Given the description of an element on the screen output the (x, y) to click on. 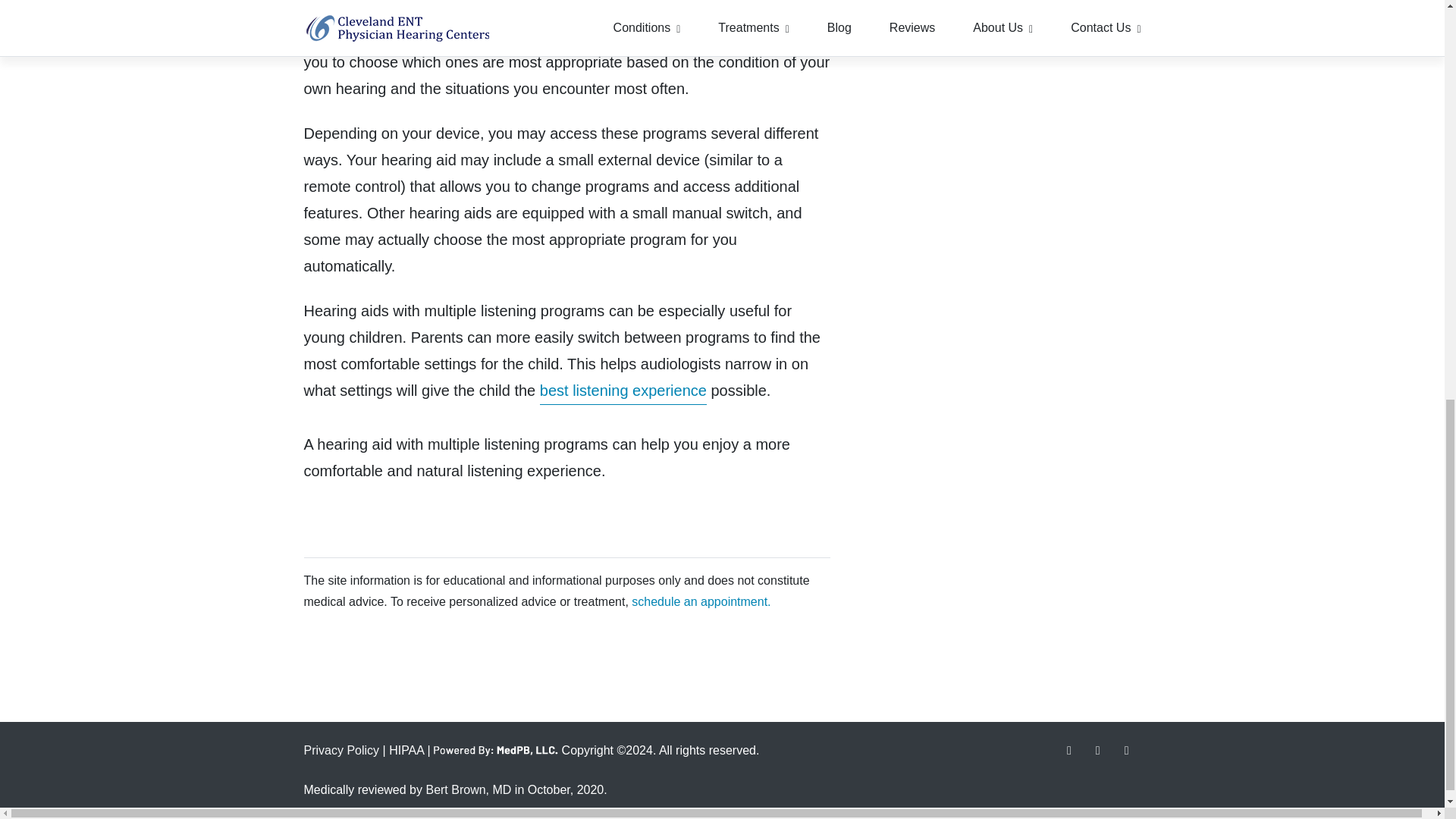
MedPB: Medical Practice Building, Marketing, Websites (495, 750)
